Given the description of an element on the screen output the (x, y) to click on. 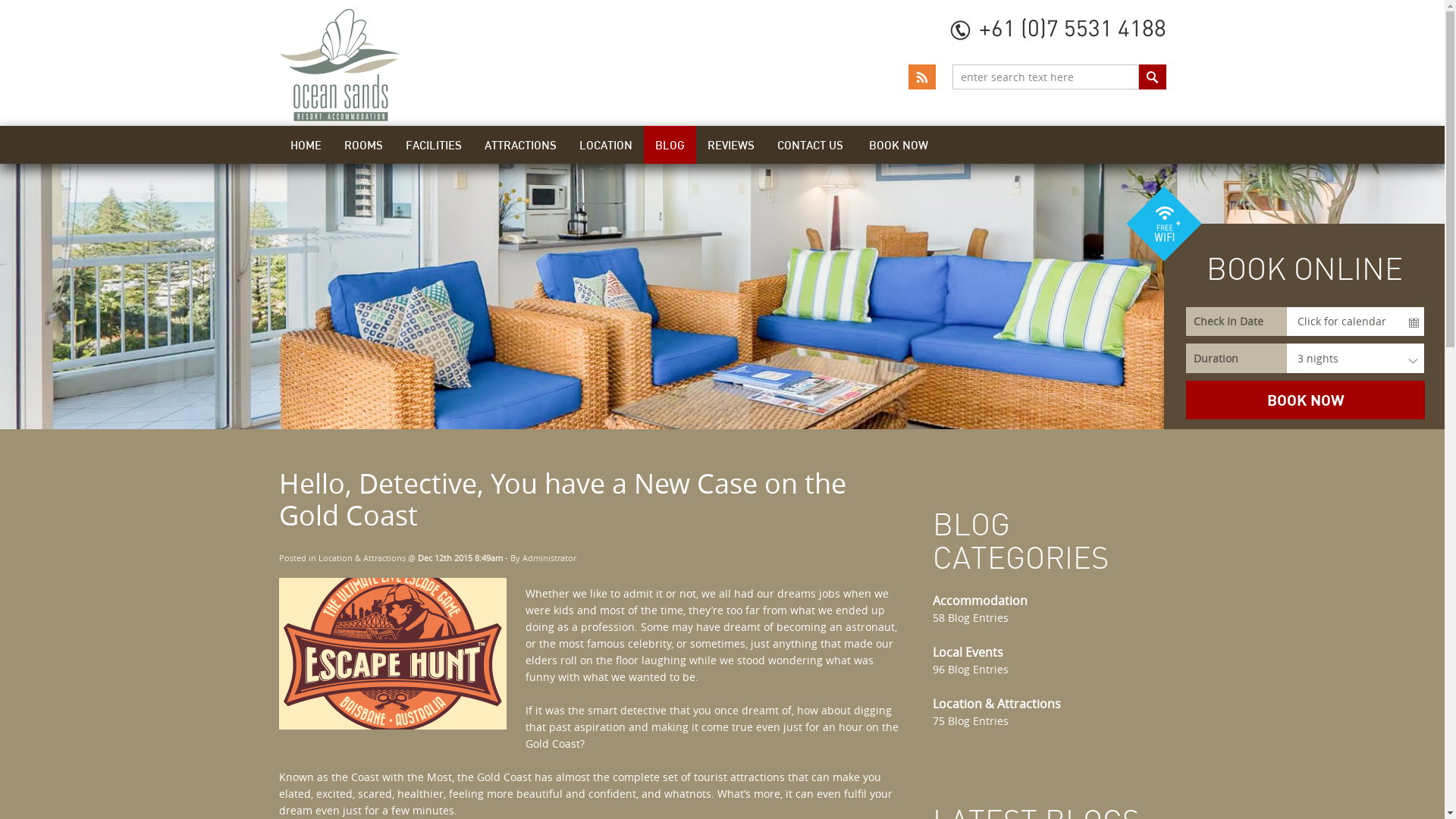
The Escape Hunt Experience V1 Element type: hover (392, 653)
Location & Attractions Element type: text (996, 703)
Book Now Element type: text (1305, 399)
BOOK NOW Element type: text (897, 144)
FACILITIES Element type: text (433, 144)
CONTACT US Element type: text (809, 144)
LOCATION Element type: text (605, 144)
Location & Attractions Element type: text (361, 557)
ATTRACTIONS Element type: text (520, 144)
ROOMS Element type: text (362, 144)
HOME Element type: text (305, 144)
REVIEWS Element type: text (730, 144)
Accommodation Element type: text (979, 600)
BLOG Element type: text (669, 144)
Local Events Element type: text (967, 651)
... Element type: hover (1413, 322)
